Given the description of an element on the screen output the (x, y) to click on. 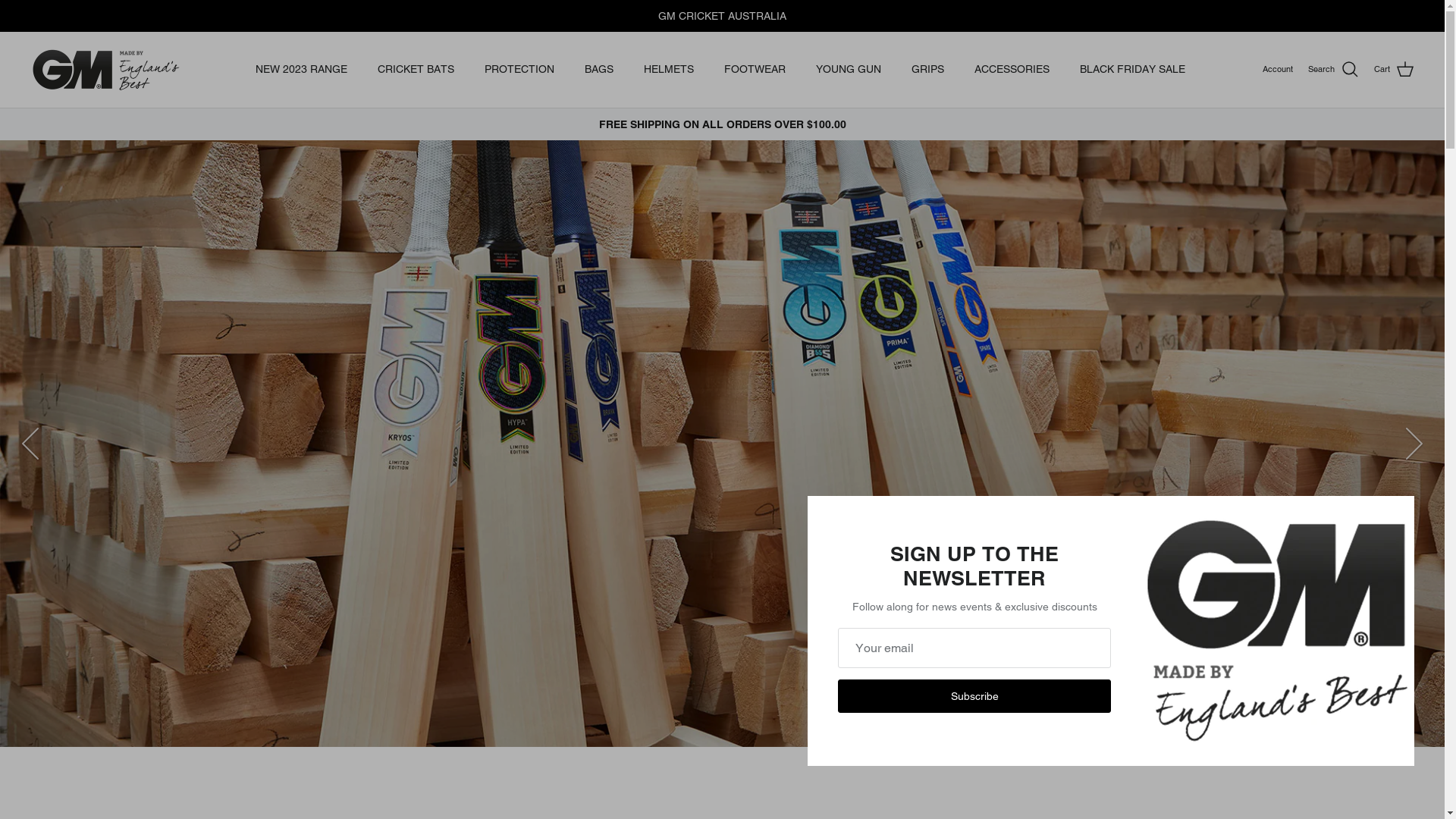
ACCESSORIES Element type: text (1011, 69)
Right Element type: text (1413, 443)
PROTECTION Element type: text (518, 69)
YOUNG GUN Element type: text (848, 69)
BLACK FRIDAY SALE Element type: text (1132, 69)
Cart Element type: text (1394, 69)
SHOP NOW Element type: text (1312, 677)
GM CRICKET AUSTRALIA  Element type: hover (106, 69)
HELMETS Element type: text (668, 69)
Search Element type: text (1333, 69)
FOOTWEAR Element type: text (754, 69)
NEW 2023 RANGE Element type: text (300, 69)
GRIPS Element type: text (927, 69)
CRICKET BATS Element type: text (415, 69)
Account Element type: text (1277, 69)
Subscribe Element type: text (973, 695)
Left Element type: text (30, 443)
BAGS Element type: text (599, 69)
